Given the description of an element on the screen output the (x, y) to click on. 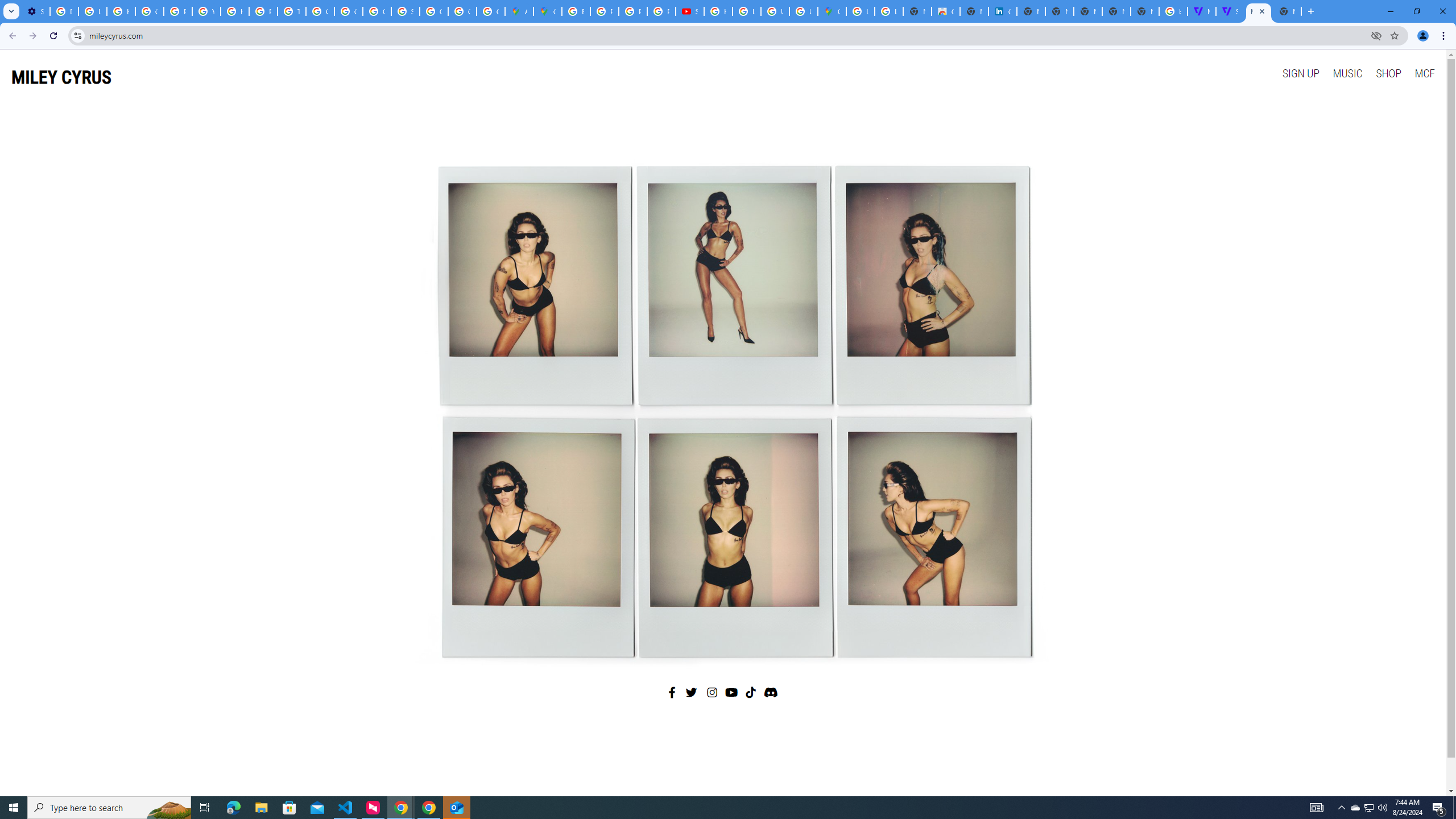
Learn how to find your photos - Google Photos Help (92, 11)
New Tab (1287, 11)
Instagram (712, 692)
Settings - Customize profile (35, 11)
MCF (1424, 73)
Privacy Help Center - Policies Help (604, 11)
Privacy Help Center - Policies Help (632, 11)
Google Account Help (148, 11)
